Given the description of an element on the screen output the (x, y) to click on. 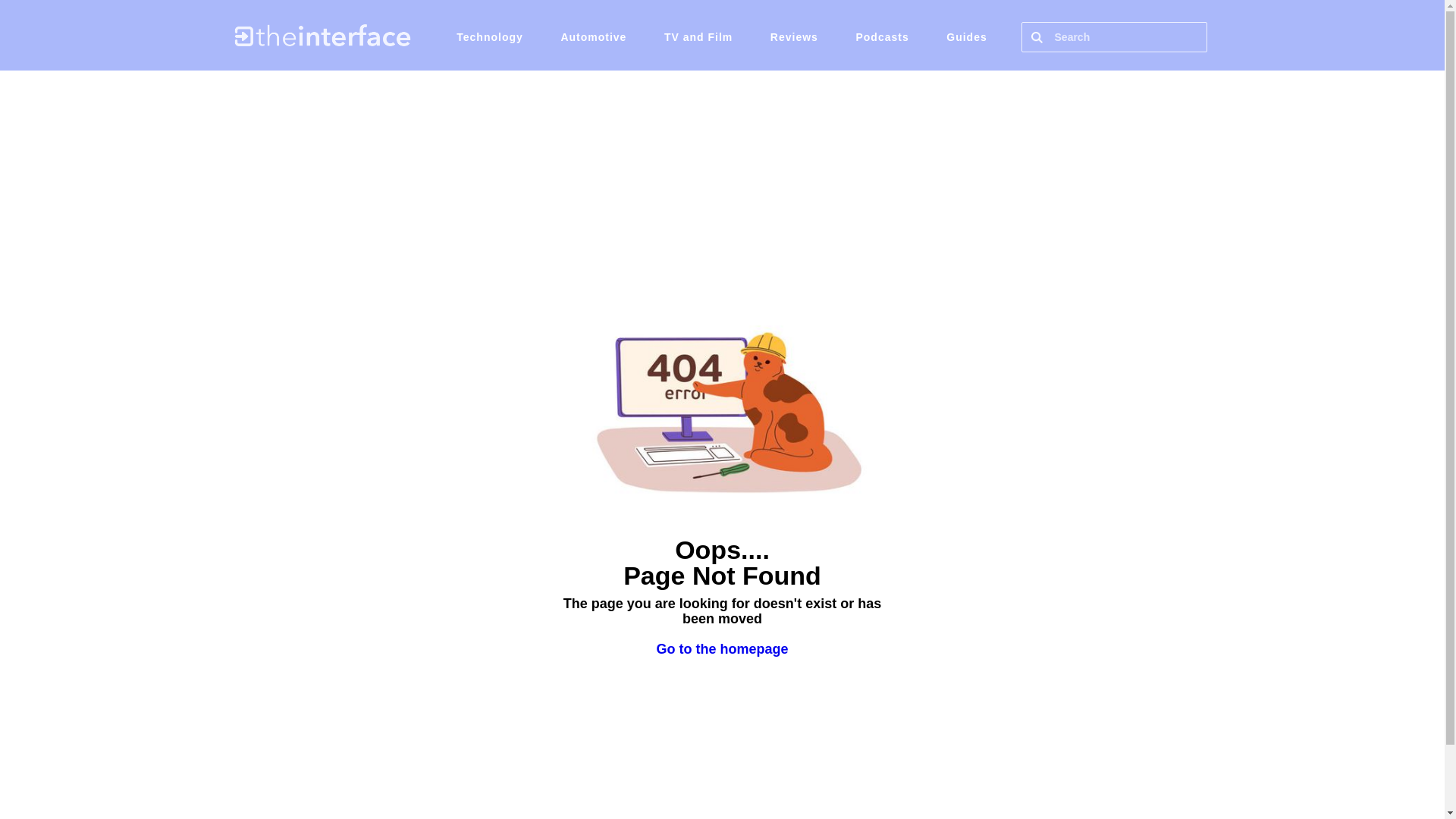
Automotive (593, 37)
Reviews (793, 37)
TV and Film (698, 37)
Go to the homepage (721, 648)
Guides (966, 37)
Technology (489, 37)
Podcasts (881, 37)
